Given the description of an element on the screen output the (x, y) to click on. 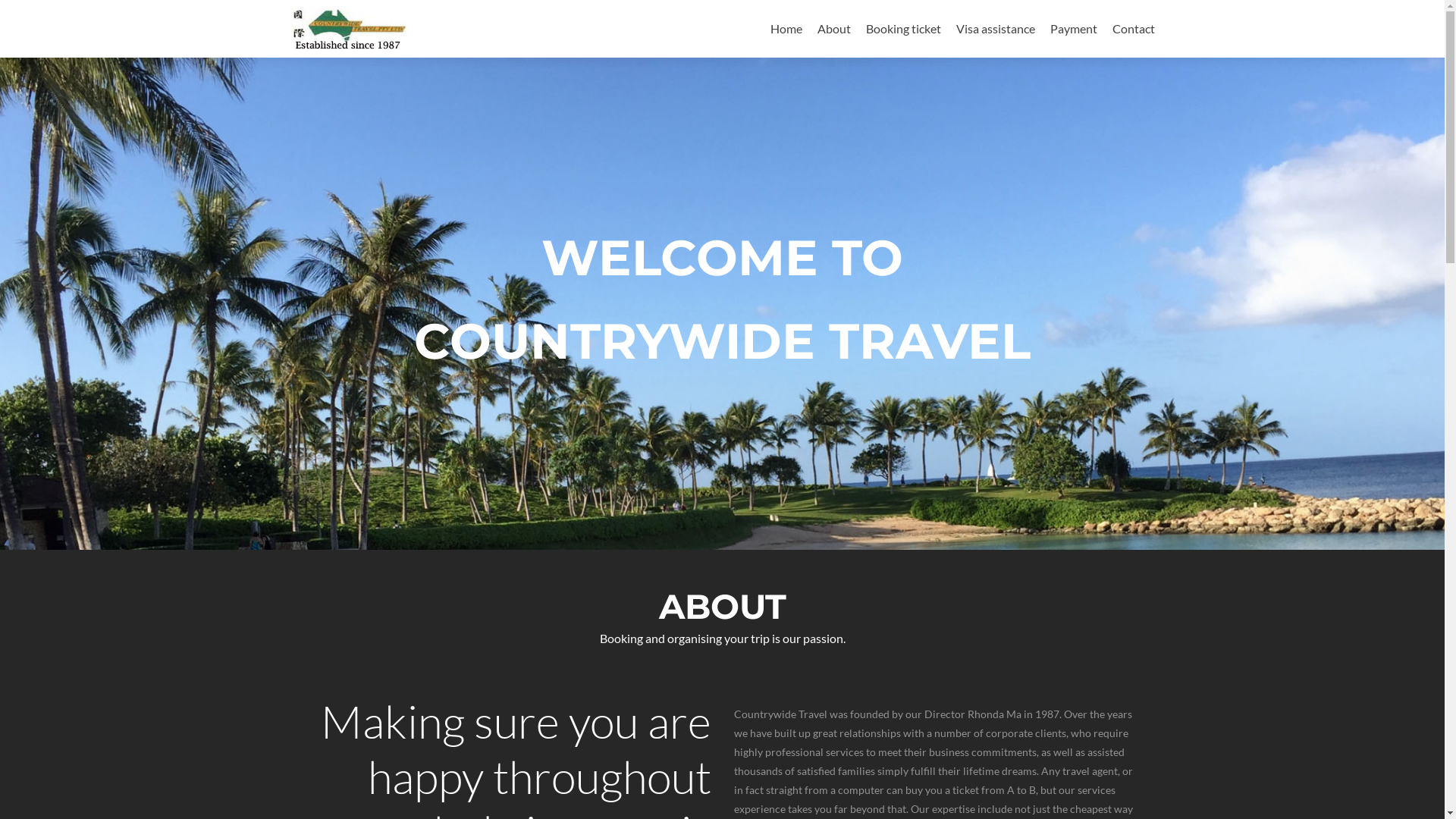
Payment Element type: text (1072, 28)
Visa assistance Element type: text (994, 28)
Home Element type: text (786, 28)
About Element type: text (833, 28)
Contact Element type: text (1132, 28)
Skip to content Element type: text (809, 9)
Booking ticket Element type: text (903, 28)
